Given the description of an element on the screen output the (x, y) to click on. 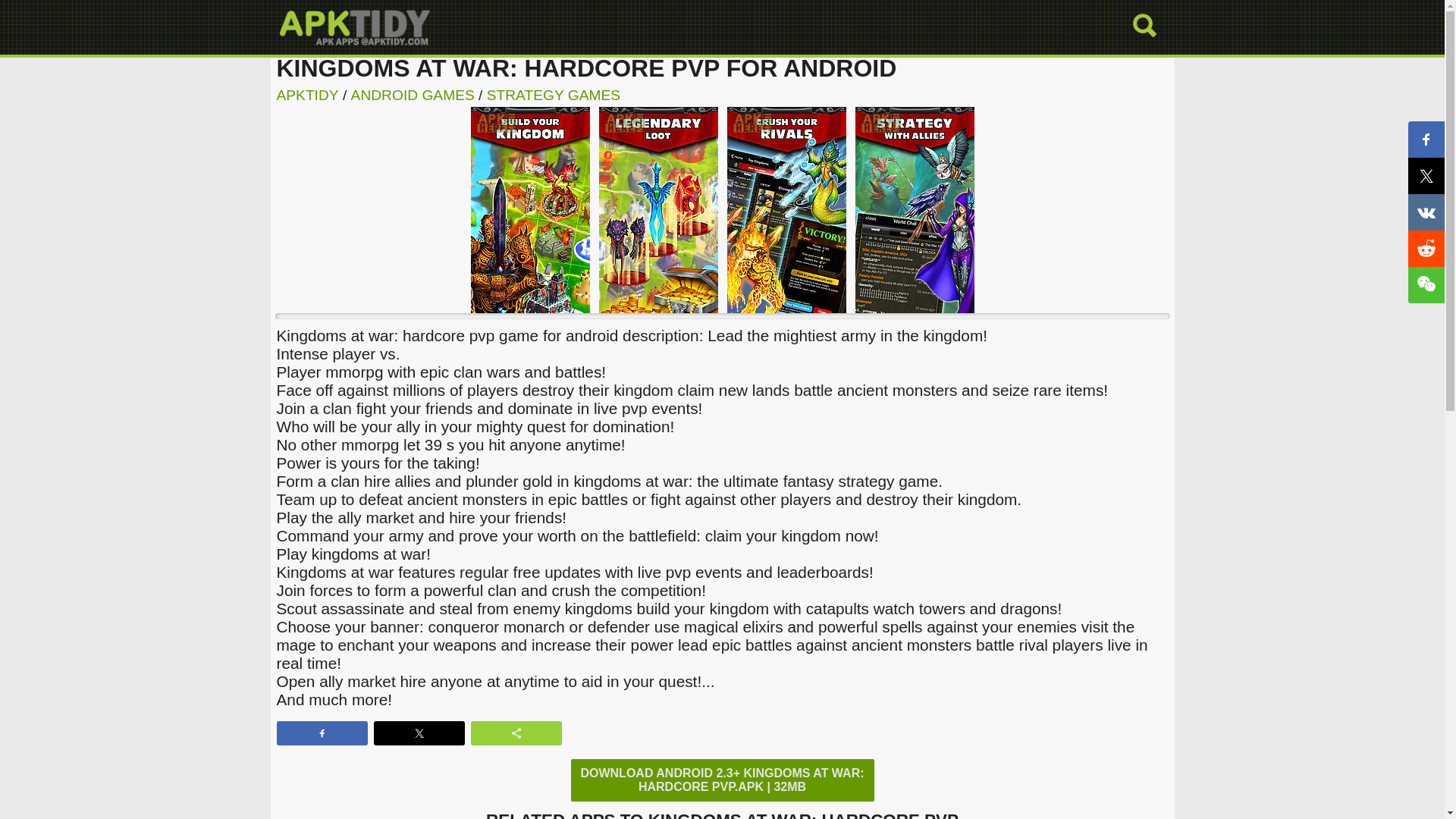
STRATEGY GAMES (553, 94)
APKTIDY (306, 94)
ANDROID GAMES (412, 94)
